Given the description of an element on the screen output the (x, y) to click on. 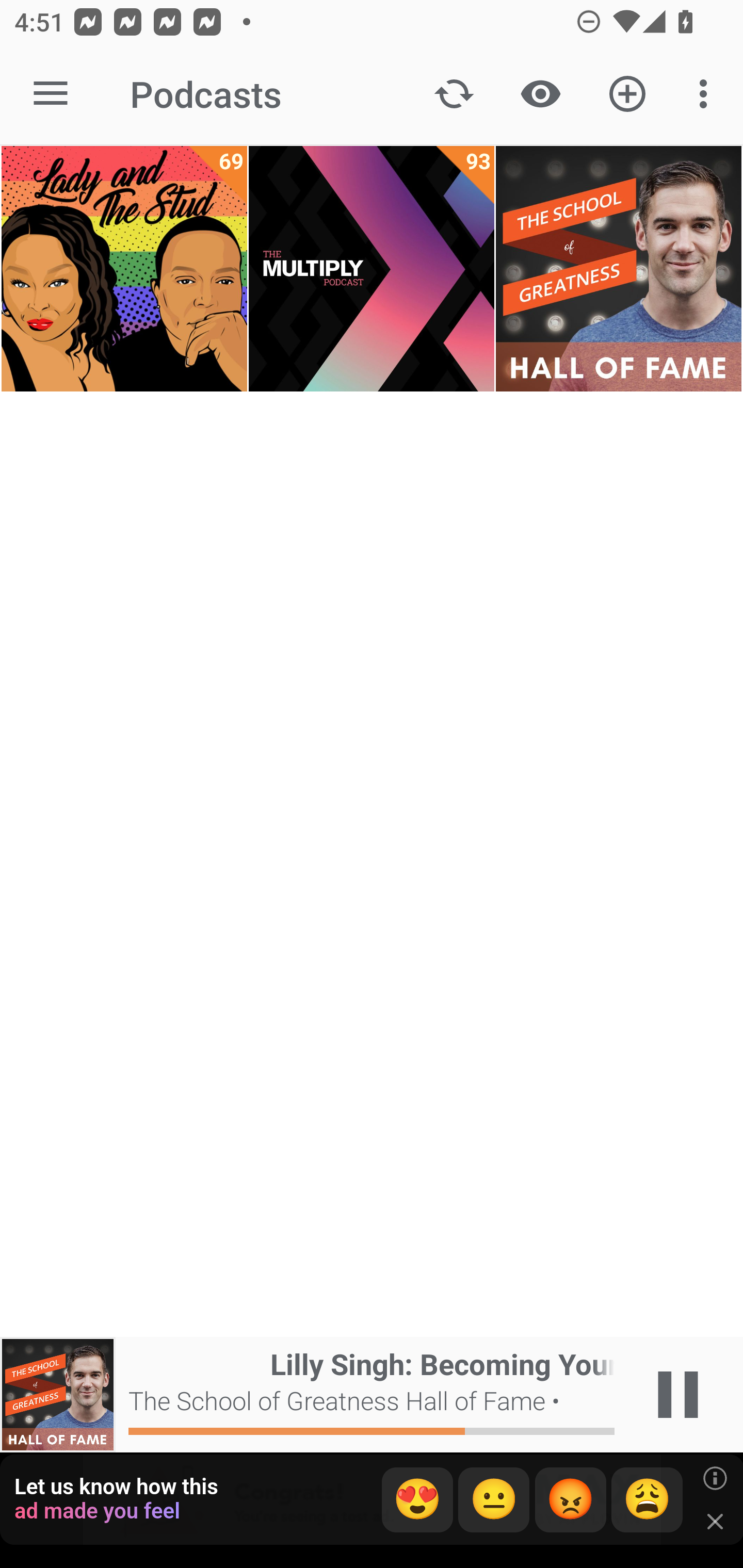
Open navigation sidebar (50, 93)
Update (453, 93)
Show / Hide played content (540, 93)
Add new Podcast (626, 93)
More options (706, 93)
Lady and The Stud 69 (124, 268)
The Multiply Podcast 93 (371, 268)
The School of Greatness Hall of Fame (618, 268)
Play / Pause (677, 1394)
app-monetization (371, 1500)
😍 (416, 1499)
😐 (493, 1499)
😡 (570, 1499)
😩 (647, 1499)
